Given the description of an element on the screen output the (x, y) to click on. 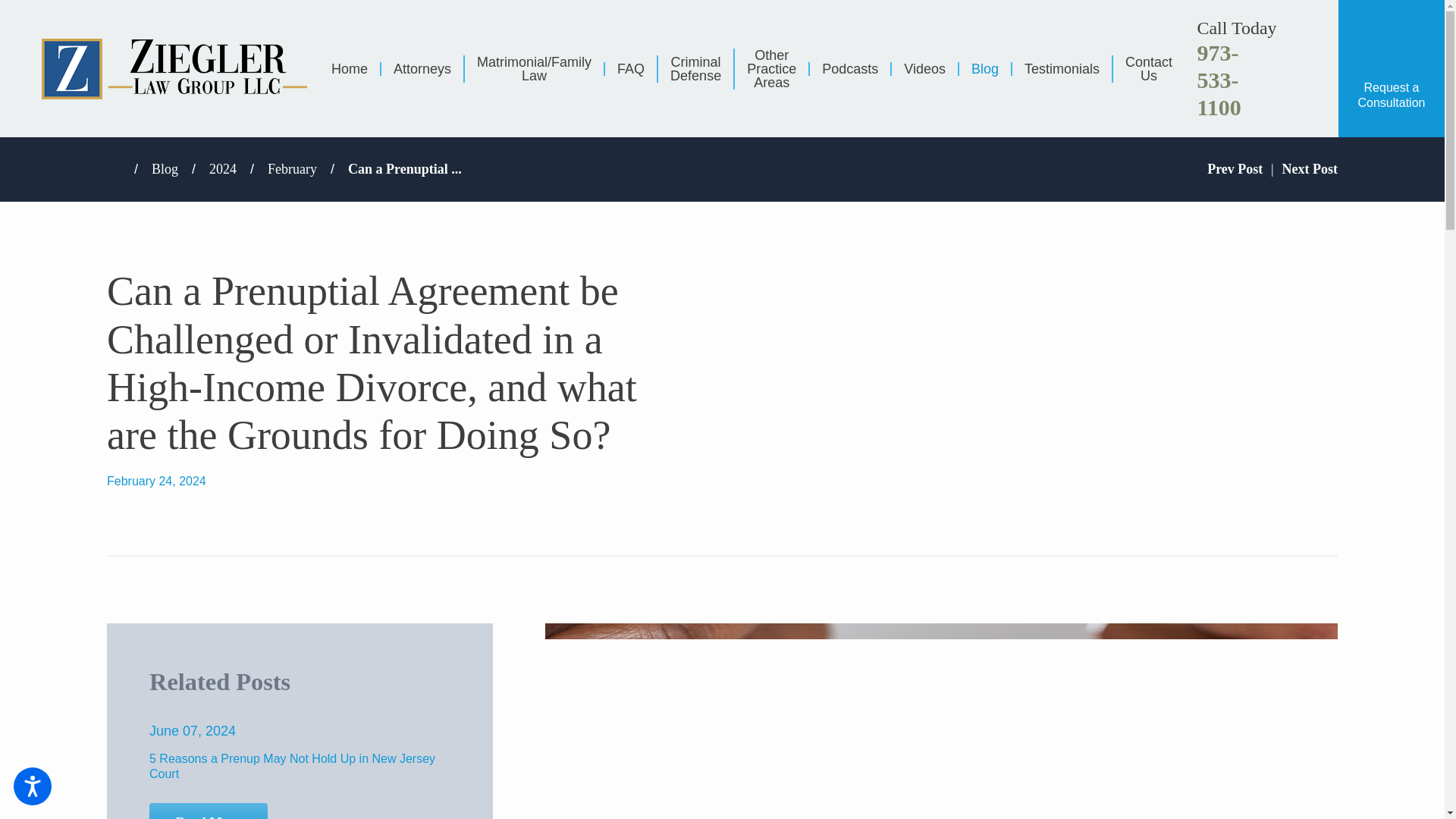
Go Home (119, 169)
Ziegler Law Group LLC (174, 68)
Open the accessibility options menu (31, 786)
Attorneys (421, 68)
